Given the description of an element on the screen output the (x, y) to click on. 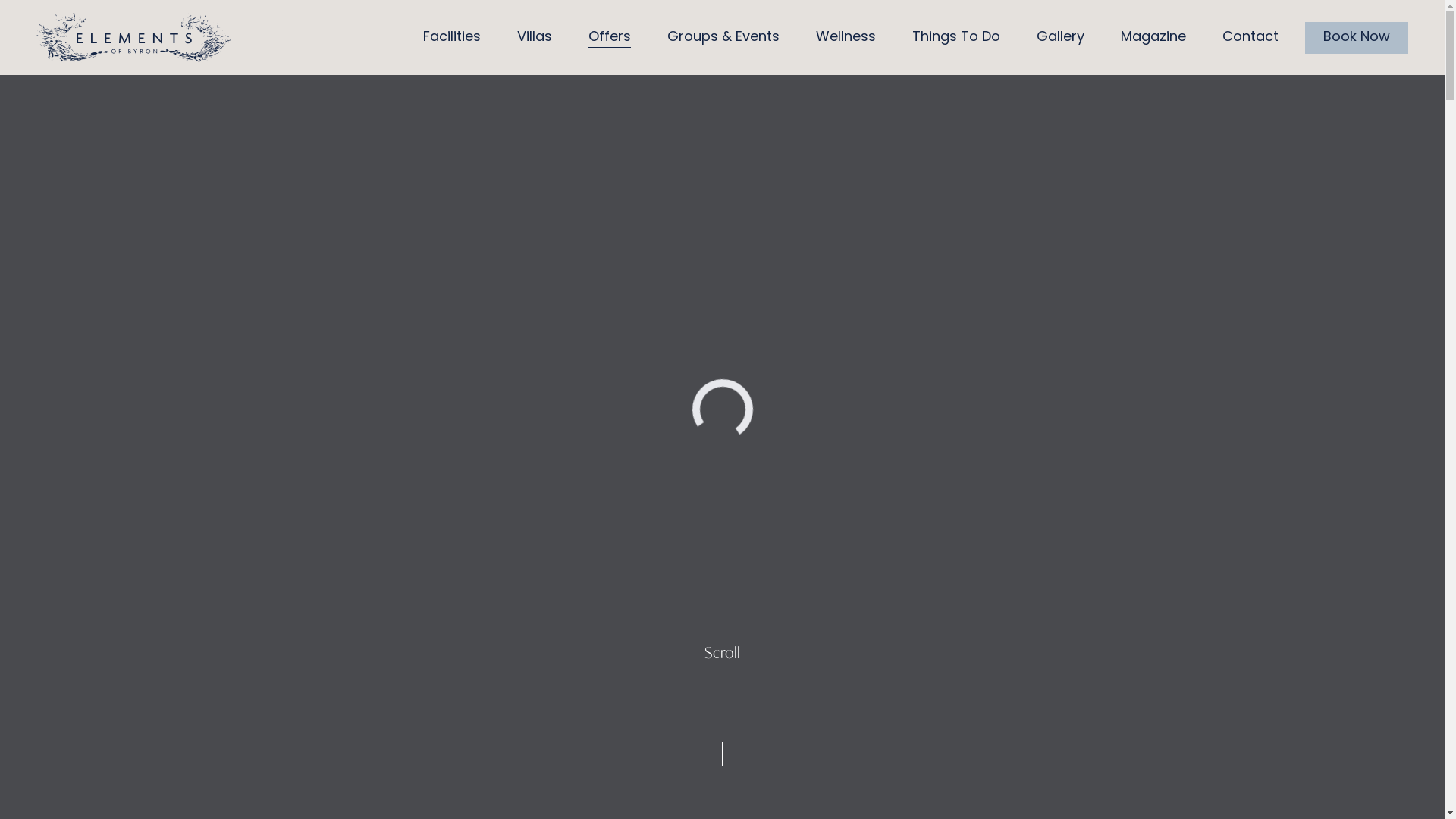
Book Now Element type: text (1356, 37)
Contact Element type: text (1250, 37)
Facilities Element type: text (451, 37)
Groups & Events Element type: text (723, 37)
Offers Element type: text (609, 37)
Things To Do Element type: text (956, 37)
Wellness Element type: text (845, 37)
Villas Element type: text (534, 37)
Gallery Element type: text (1060, 37)
Magazine Element type: text (1153, 37)
